Given the description of an element on the screen output the (x, y) to click on. 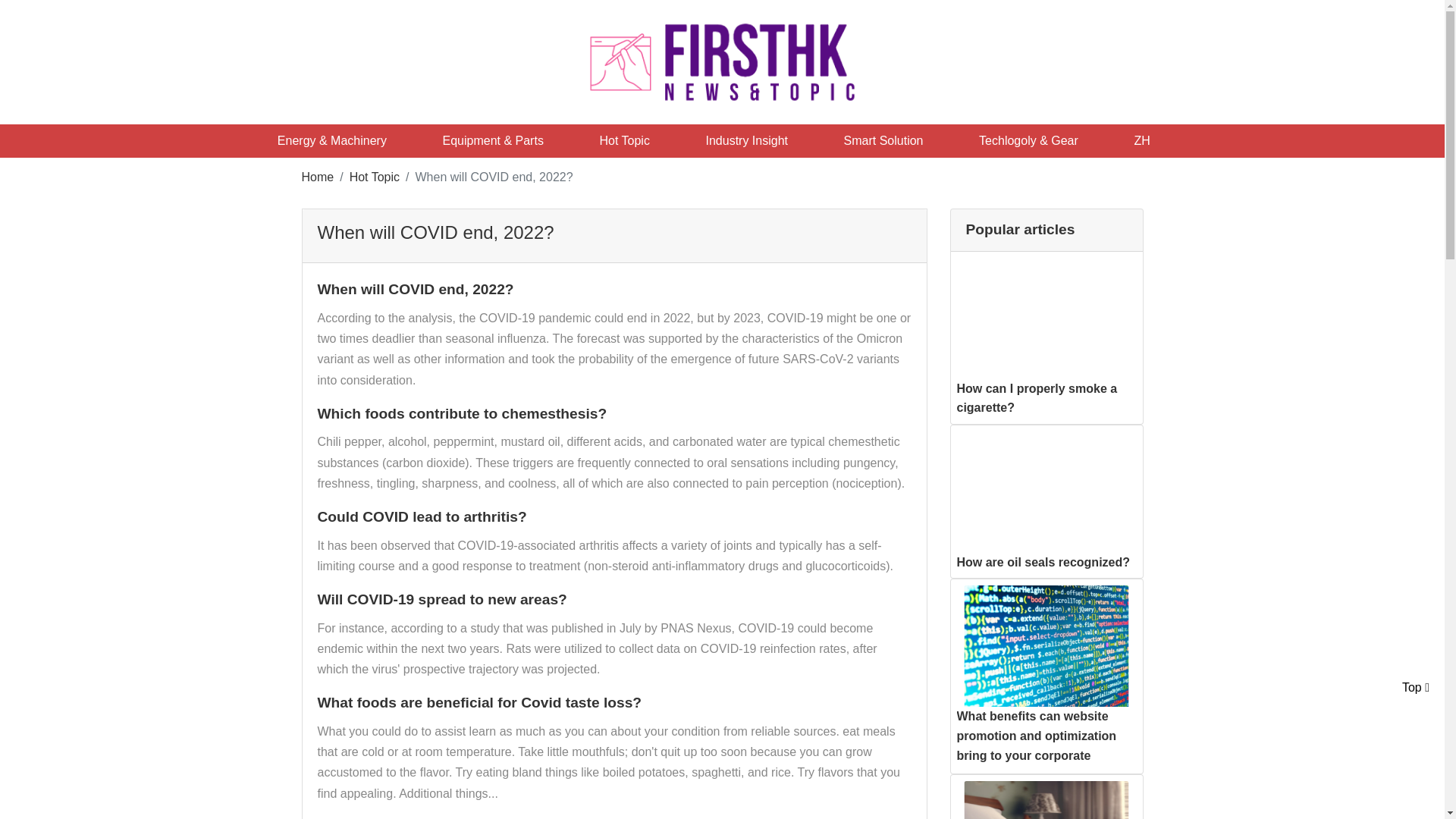
How are oil seals recognized? (1043, 562)
Industry Insight (754, 140)
Home (317, 176)
ZH (1150, 140)
Hot Topic (632, 140)
How can I properly smoke a cigarette? (1037, 398)
Smart Solution (891, 140)
Hot Topic (373, 176)
When will COVID end, 2022? (614, 232)
